Given the description of an element on the screen output the (x, y) to click on. 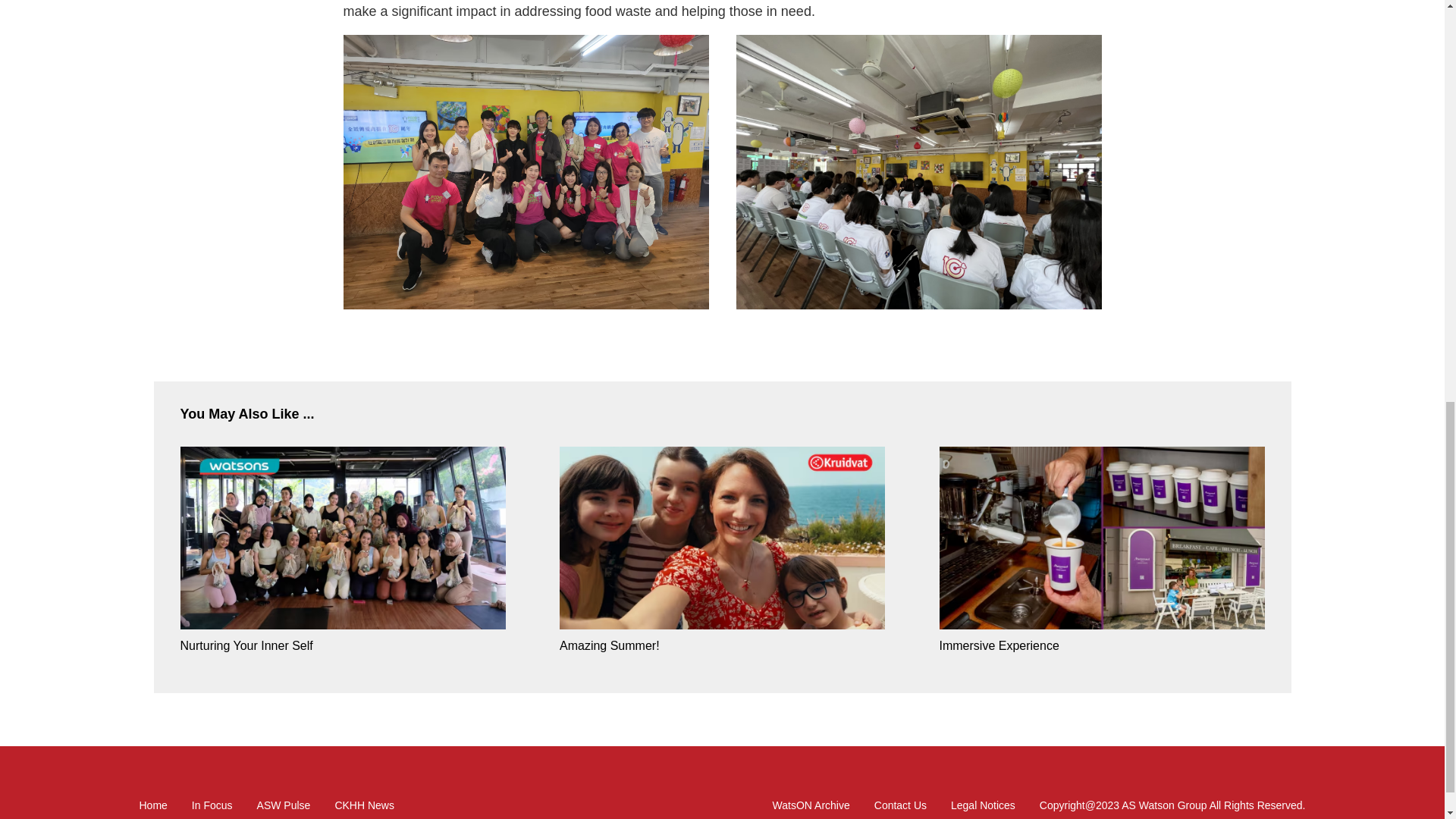
Amazing Summer! (722, 646)
Amazing Summer! (722, 539)
Nurturing Your Inner Self (342, 646)
Nurturing Your Inner Self (342, 539)
Immersive Experience (1101, 646)
Immersive Experience (1101, 539)
